Given the description of an element on the screen output the (x, y) to click on. 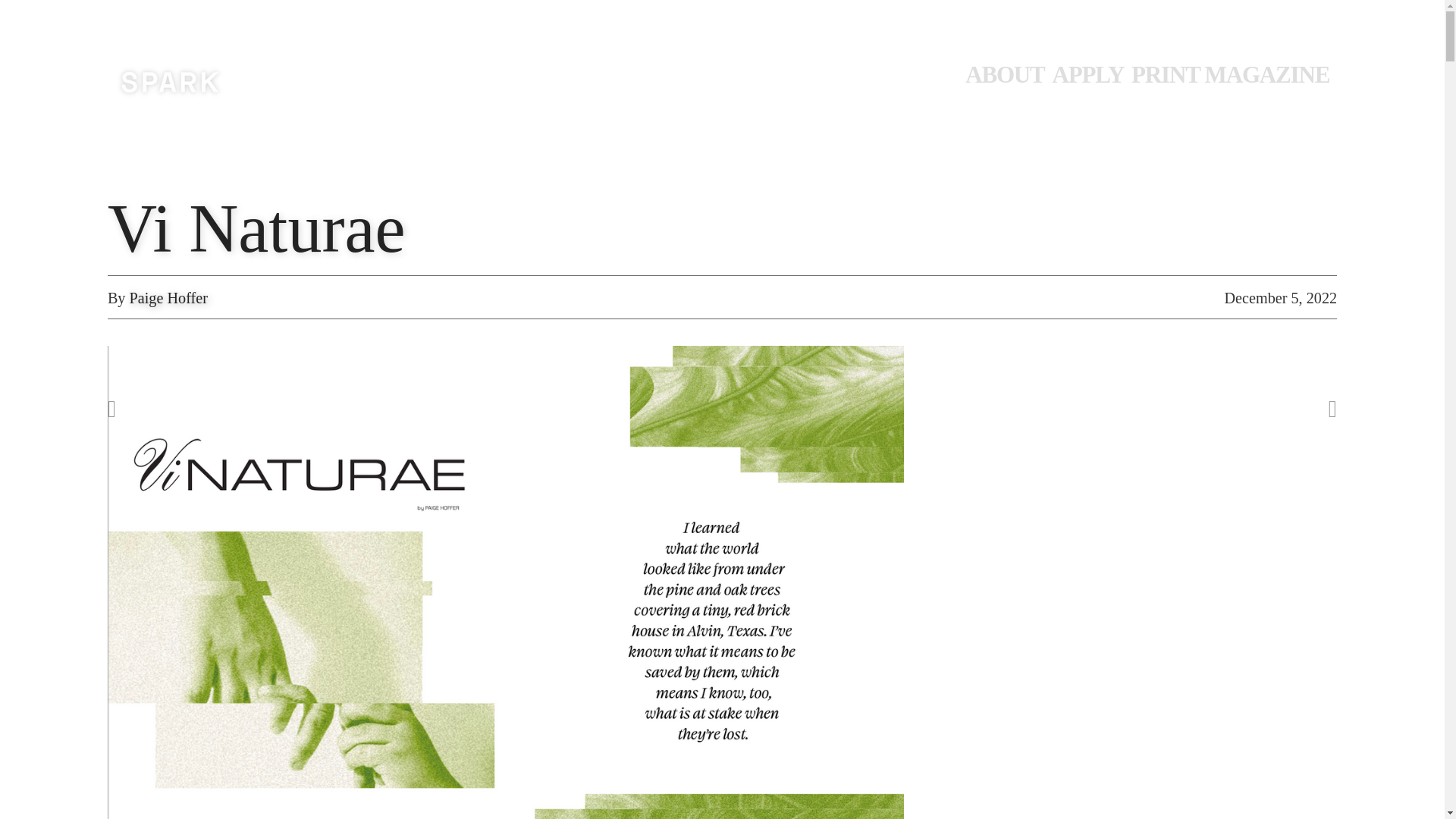
APPLY (1092, 74)
Paige Hoffer (168, 297)
ABOUT (1008, 74)
PRINT MAGAZINE (1233, 74)
